Given the description of an element on the screen output the (x, y) to click on. 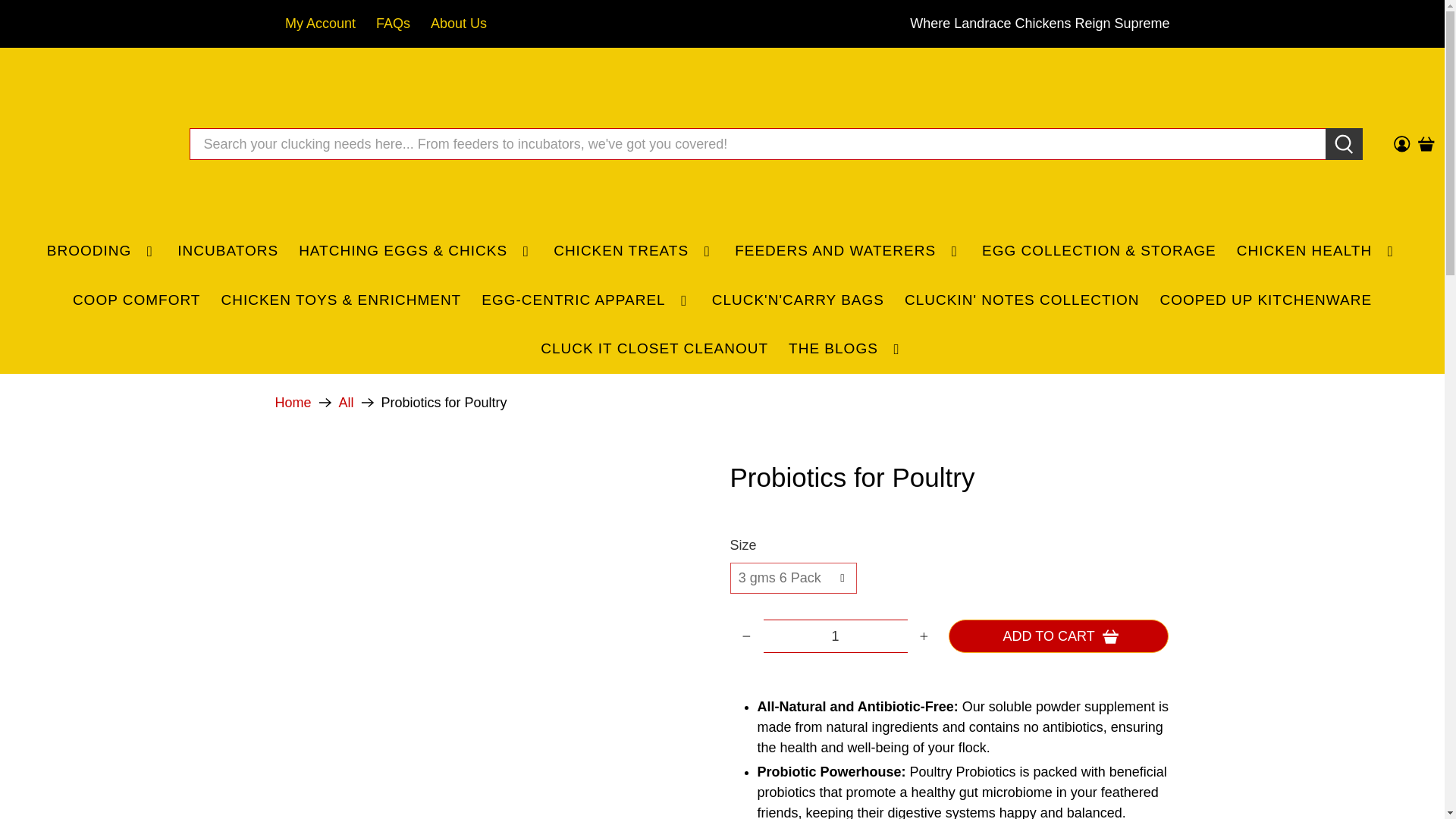
Cluck It All Farms (85, 143)
1 (834, 635)
CHICKEN TREATS (634, 251)
EGG-CENTRIC APPAREL (586, 300)
FEEDERS AND WATERERS (848, 251)
Cluck It All Farms (293, 402)
COOP COMFORT (136, 300)
CLUCK IT CLOSET CLEANOUT (654, 348)
CHICKEN HEALTH (1316, 251)
CLUCK'N'CARRY BAGS (797, 300)
